Given the description of an element on the screen output the (x, y) to click on. 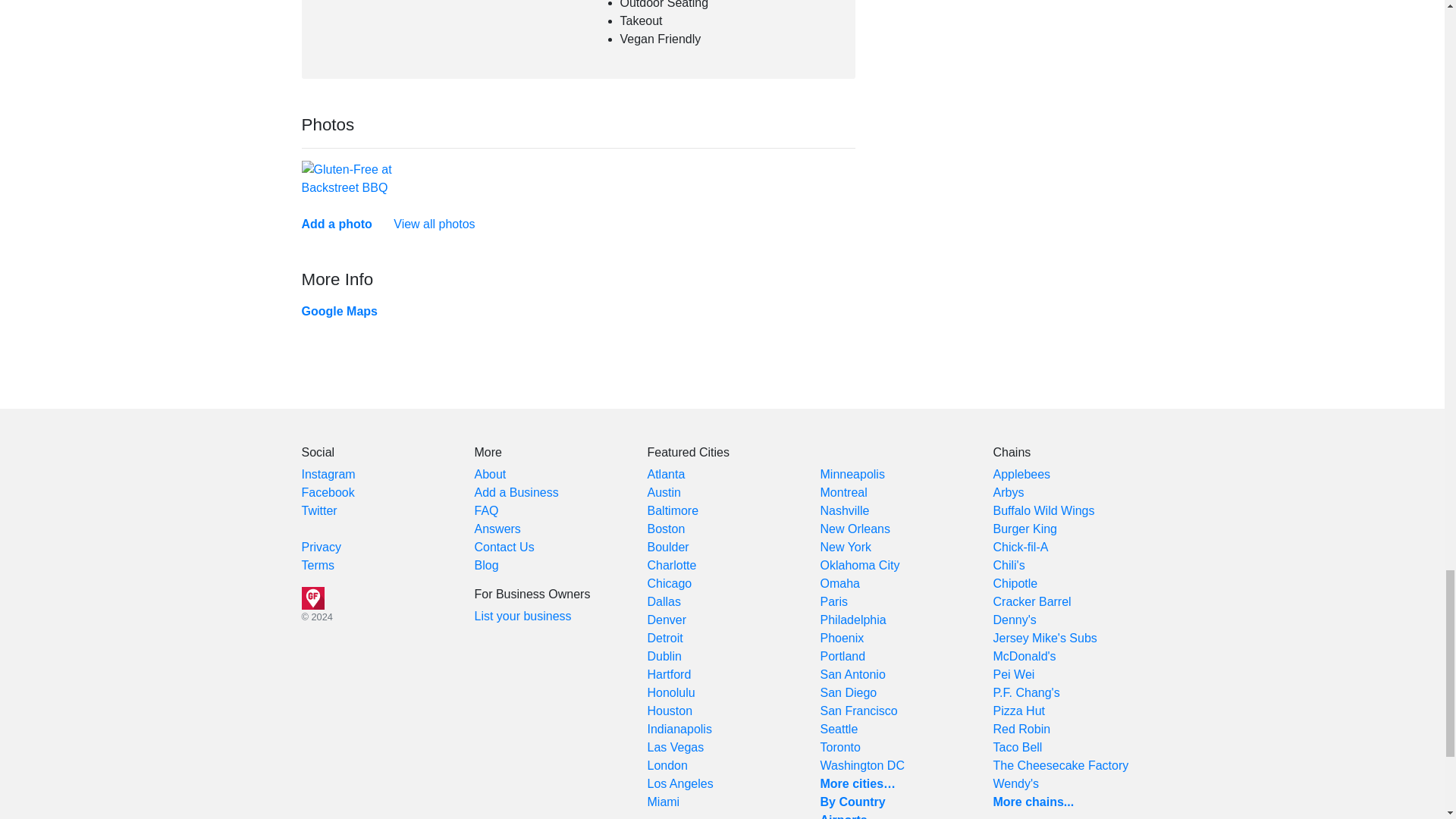
Terms (317, 564)
Add a photo (336, 223)
Twitter (319, 510)
Instagram (328, 473)
Google Maps (339, 310)
View all photos (433, 223)
Facebook (328, 492)
Privacy (320, 546)
